Given the description of an element on the screen output the (x, y) to click on. 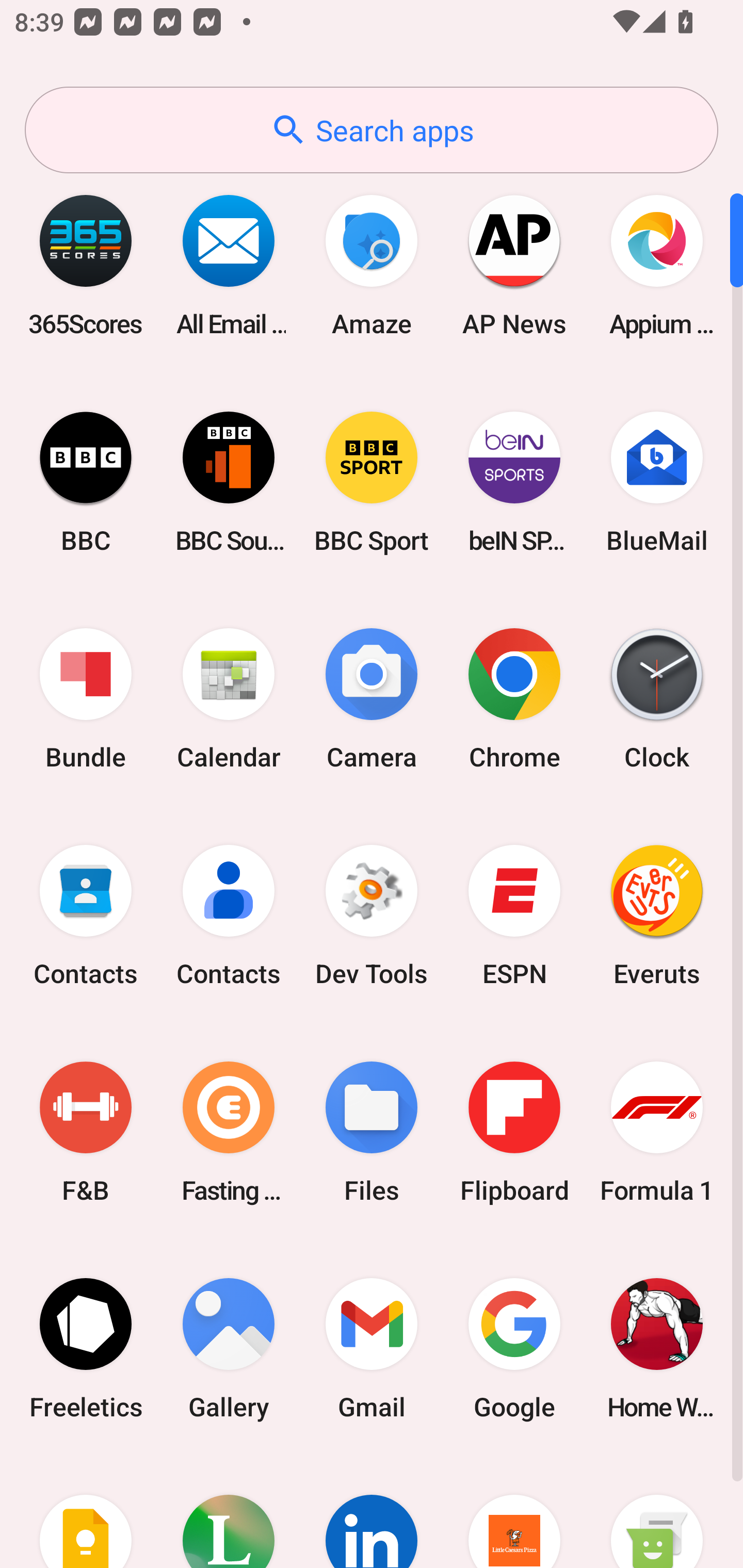
  Search apps (371, 130)
365Scores (85, 264)
All Email Connect (228, 264)
Amaze (371, 264)
AP News (514, 264)
Appium Settings (656, 264)
BBC (85, 482)
BBC Sounds (228, 482)
BBC Sport (371, 482)
beIN SPORTS (514, 482)
BlueMail (656, 482)
Bundle (85, 699)
Calendar (228, 699)
Camera (371, 699)
Chrome (514, 699)
Clock (656, 699)
Contacts (85, 915)
Contacts (228, 915)
Dev Tools (371, 915)
ESPN (514, 915)
Everuts (656, 915)
F&B (85, 1131)
Fasting Coach (228, 1131)
Files (371, 1131)
Flipboard (514, 1131)
Formula 1 (656, 1131)
Freeletics (85, 1348)
Gallery (228, 1348)
Gmail (371, 1348)
Google (514, 1348)
Home Workout (656, 1348)
Keep Notes (85, 1512)
Lifesum (228, 1512)
LinkedIn (371, 1512)
Little Caesars Pizza (514, 1512)
Messaging (656, 1512)
